Given the description of an element on the screen output the (x, y) to click on. 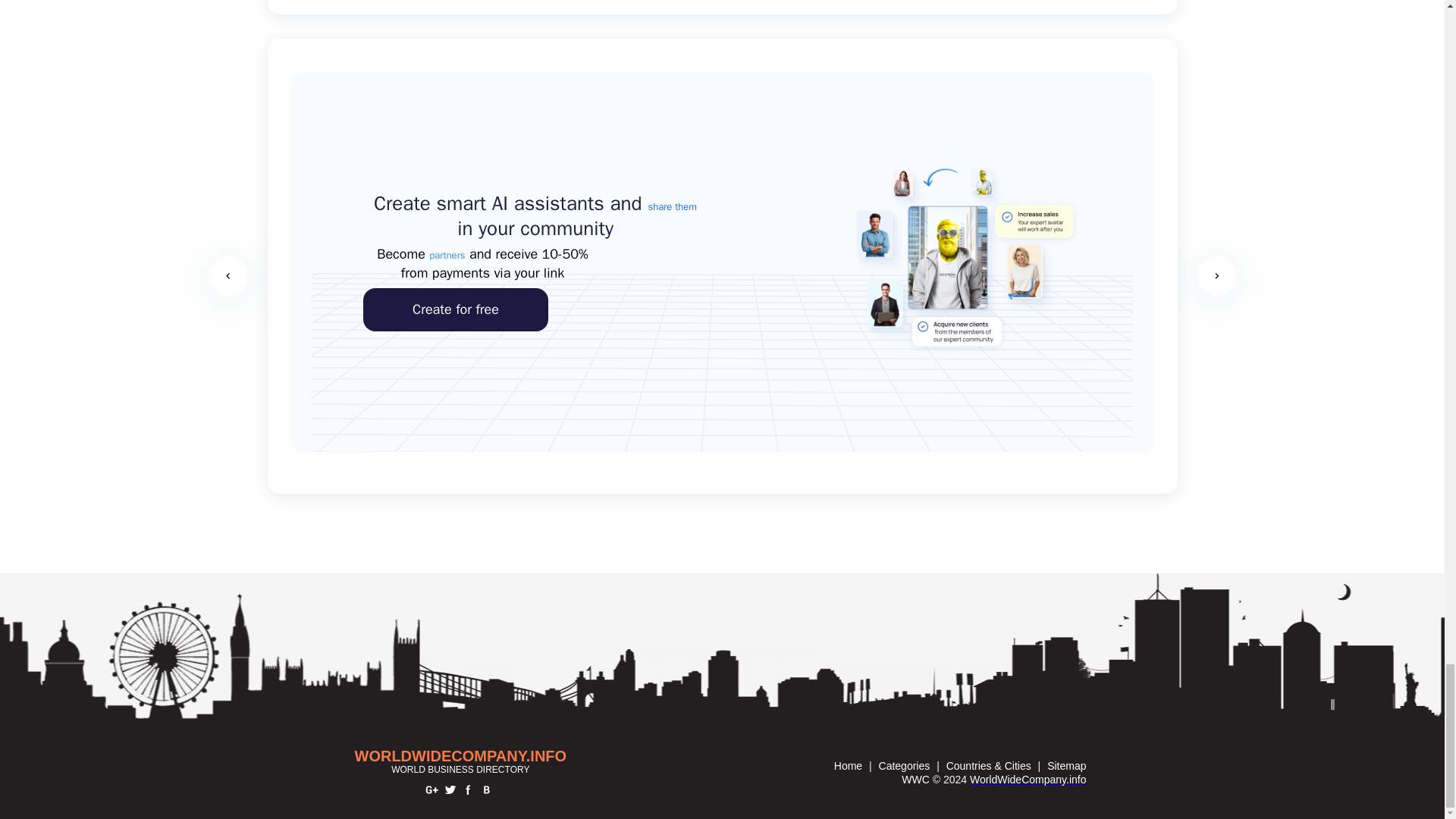
Business Directory - company reviews (1027, 779)
Business Directory - company reviews, get new clients (461, 755)
